Given the description of an element on the screen output the (x, y) to click on. 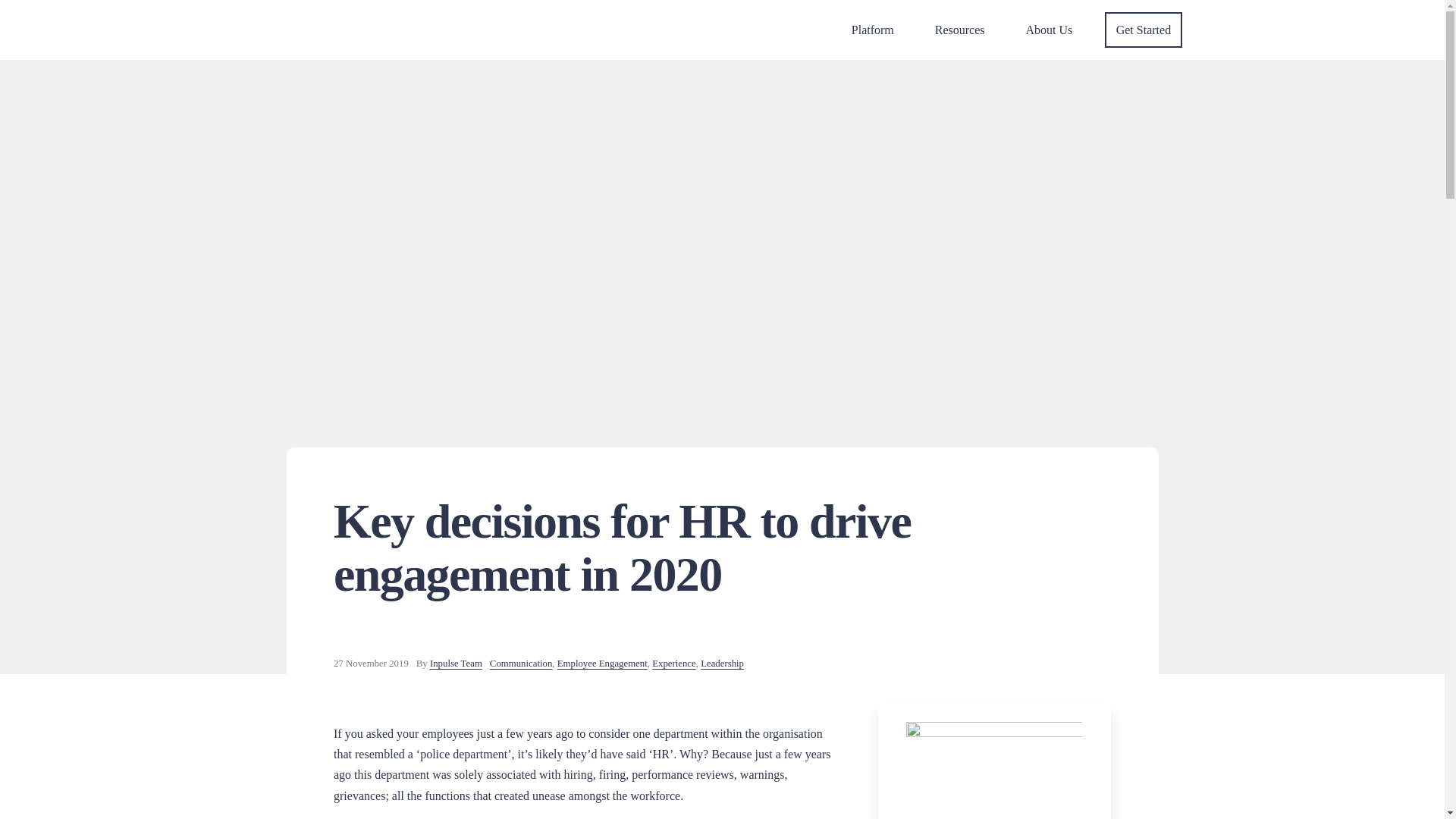
About Us (1049, 29)
Communication (520, 663)
Get Started (1143, 29)
Employee Engagement (602, 663)
Inpulse Team (455, 663)
Platform (872, 29)
Resources (959, 29)
Leadership (722, 663)
Experience (673, 663)
